Given the description of an element on the screen output the (x, y) to click on. 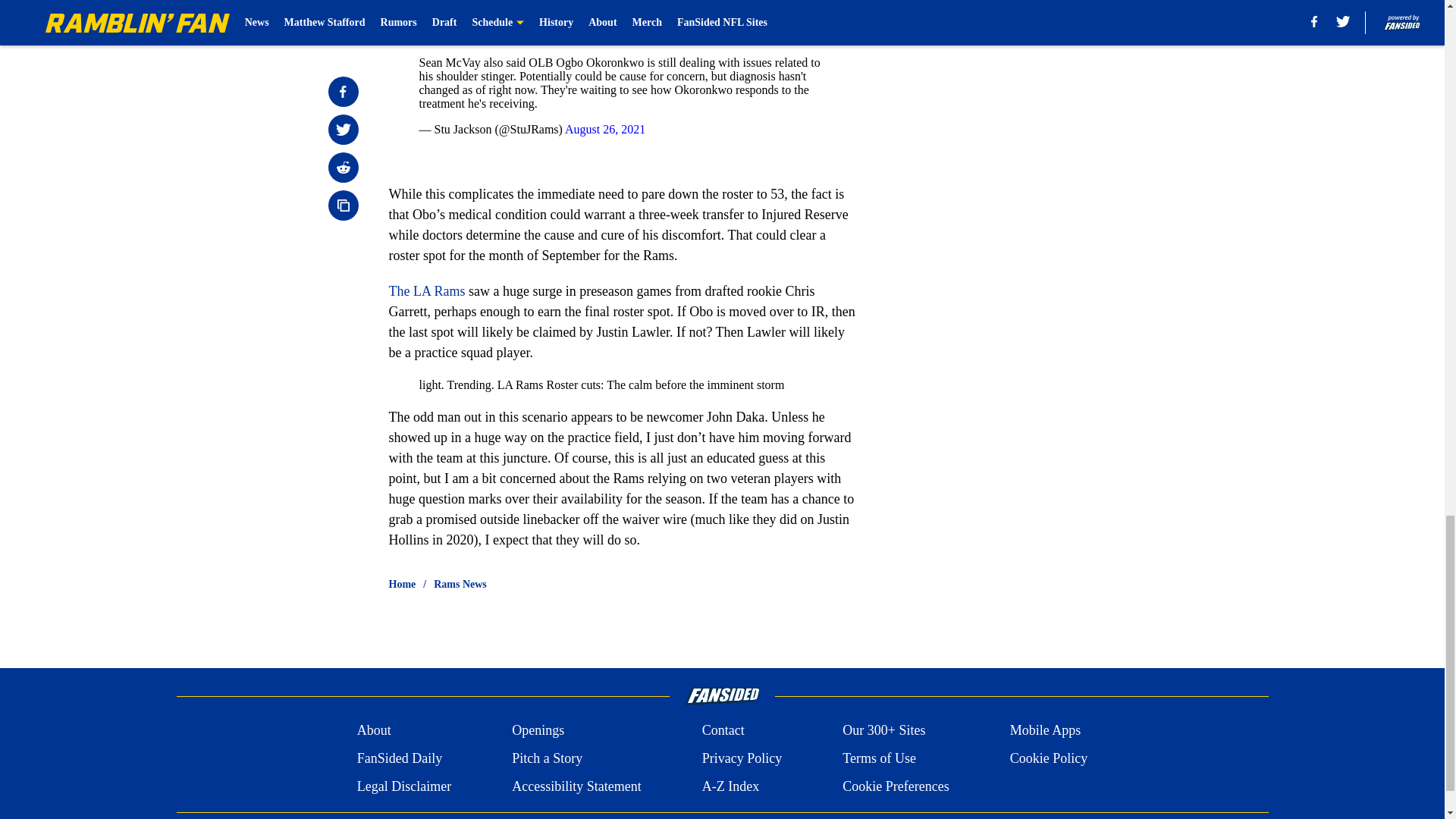
August 26, 2021 (604, 128)
FanSided Daily (399, 758)
Contact (722, 730)
Terms of Use (879, 758)
Cookie Policy (1048, 758)
Privacy Policy (742, 758)
Cookie Preferences (896, 786)
Mobile Apps (1045, 730)
The LA Rams (426, 290)
Home (401, 584)
